Given the description of an element on the screen output the (x, y) to click on. 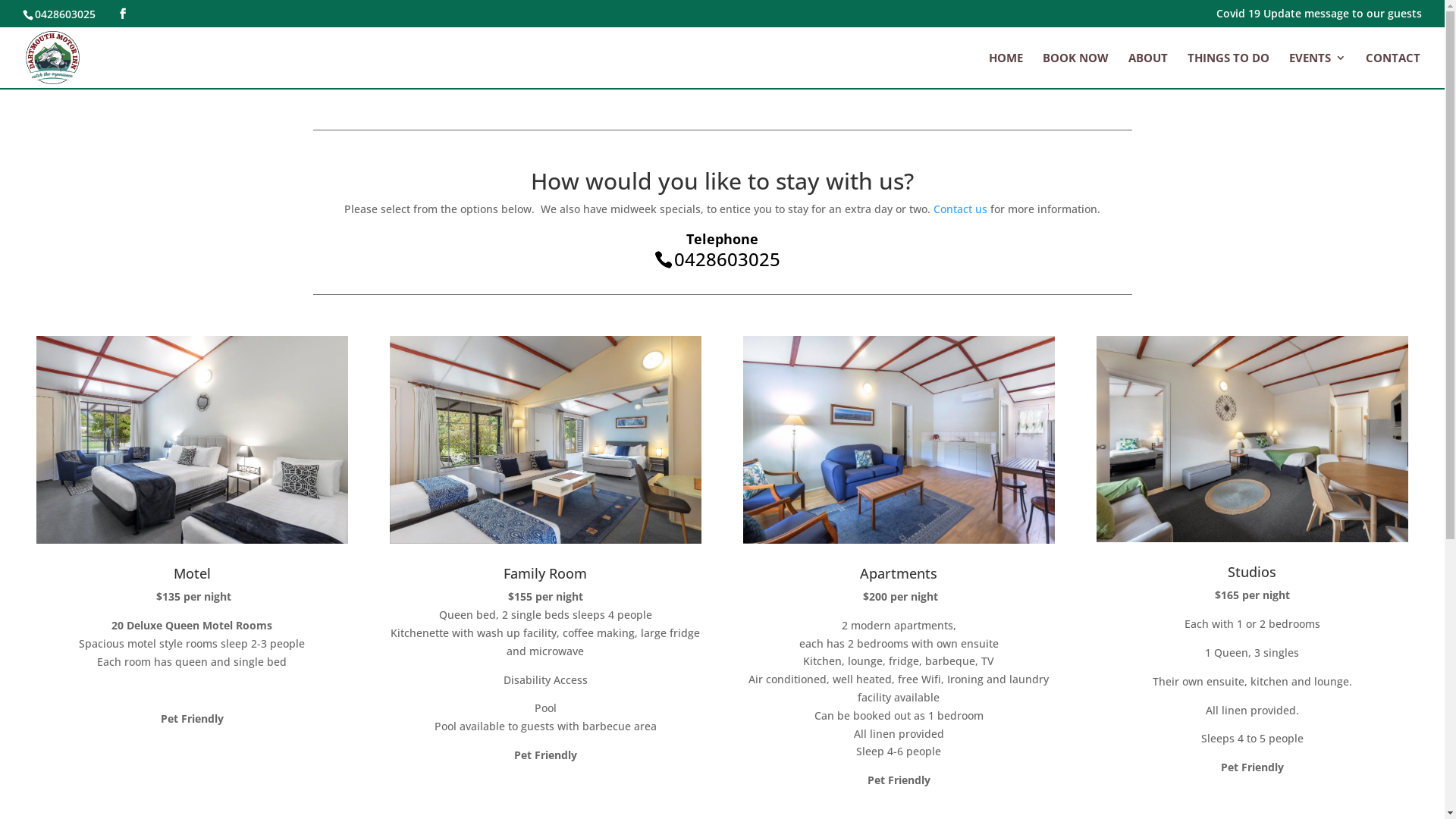
Telephone
0428603025 Element type: text (722, 247)
EVENTS Element type: text (1317, 69)
Family Room Element type: text (544, 573)
Contact us Element type: text (960, 208)
HOME Element type: text (1005, 69)
Covid 19 Update message to our guests Element type: text (1318, 16)
ABOUT Element type: text (1147, 69)
THINGS TO DO Element type: text (1228, 69)
Studios Element type: text (1251, 571)
BOOK NOW Element type: text (1075, 69)
Apartments Element type: text (898, 573)
Motel Element type: text (191, 573)
CONTACT Element type: text (1392, 69)
